Given the description of an element on the screen output the (x, y) to click on. 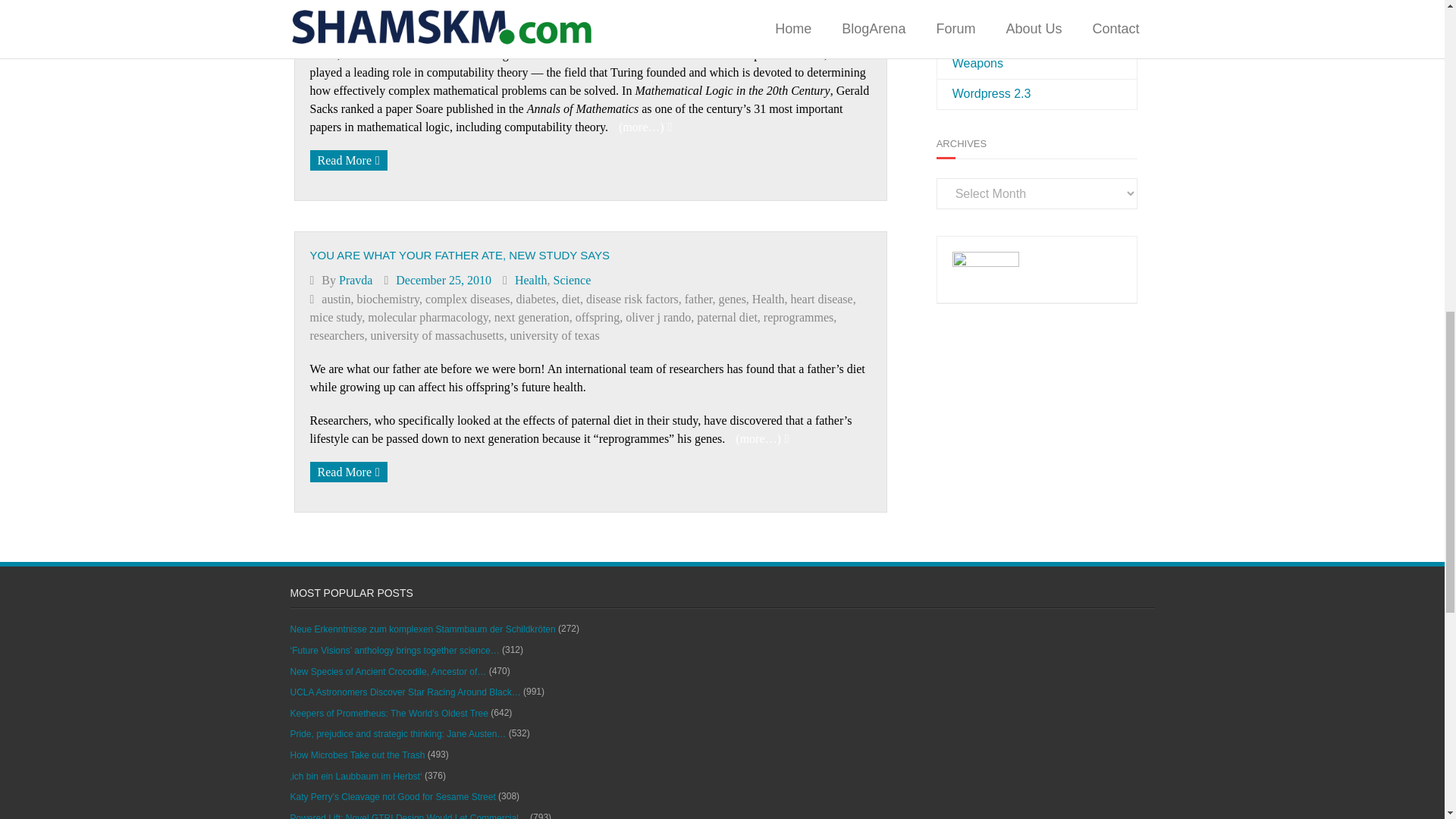
View all posts by Pravda (355, 279)
Permalink to You Are What Your Father Ate, New Study Says (459, 254)
You Are What Your Father Ate, New Study Says (444, 279)
